Given the description of an element on the screen output the (x, y) to click on. 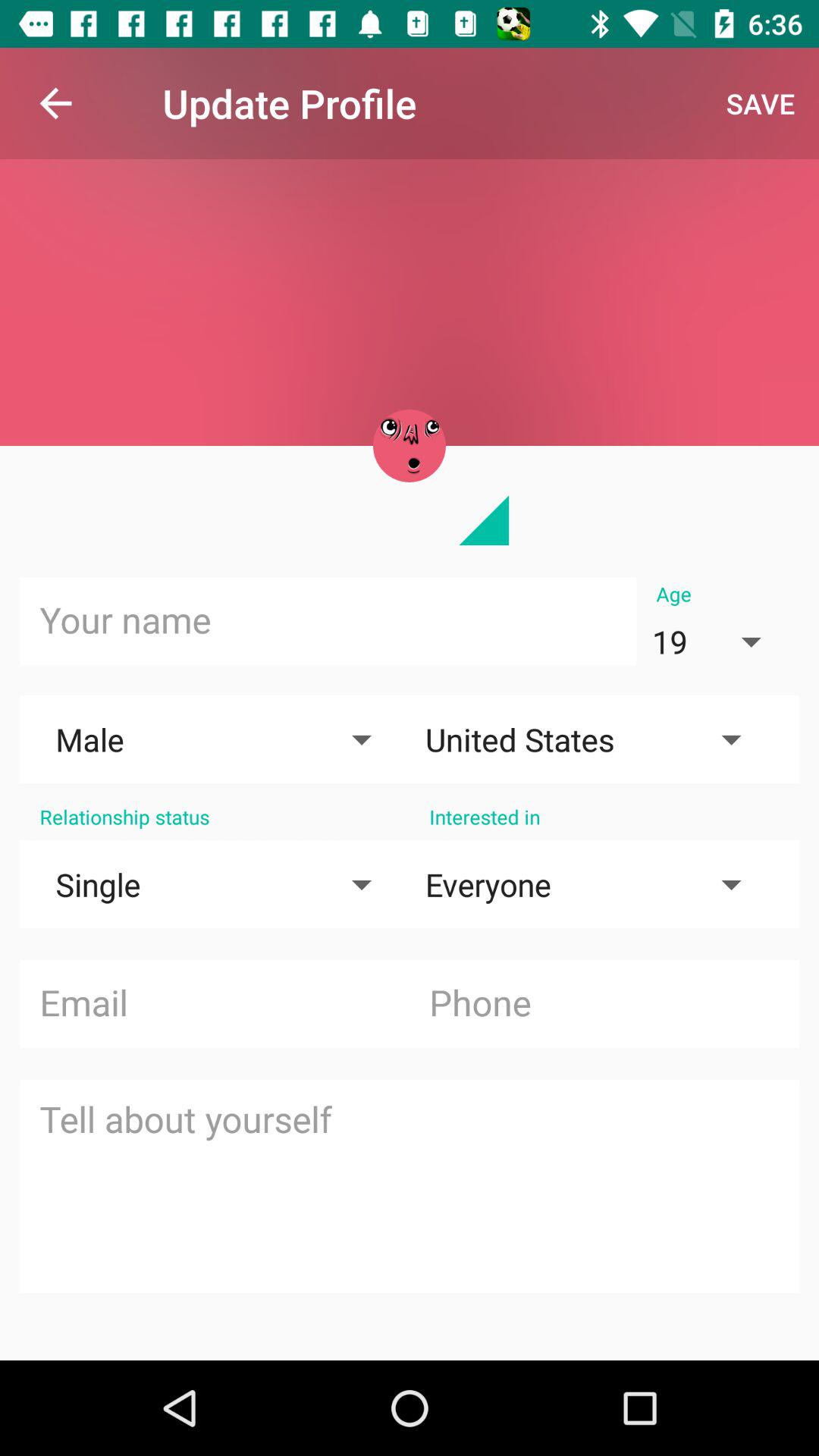
enter tell about yourself (409, 1186)
